Given the description of an element on the screen output the (x, y) to click on. 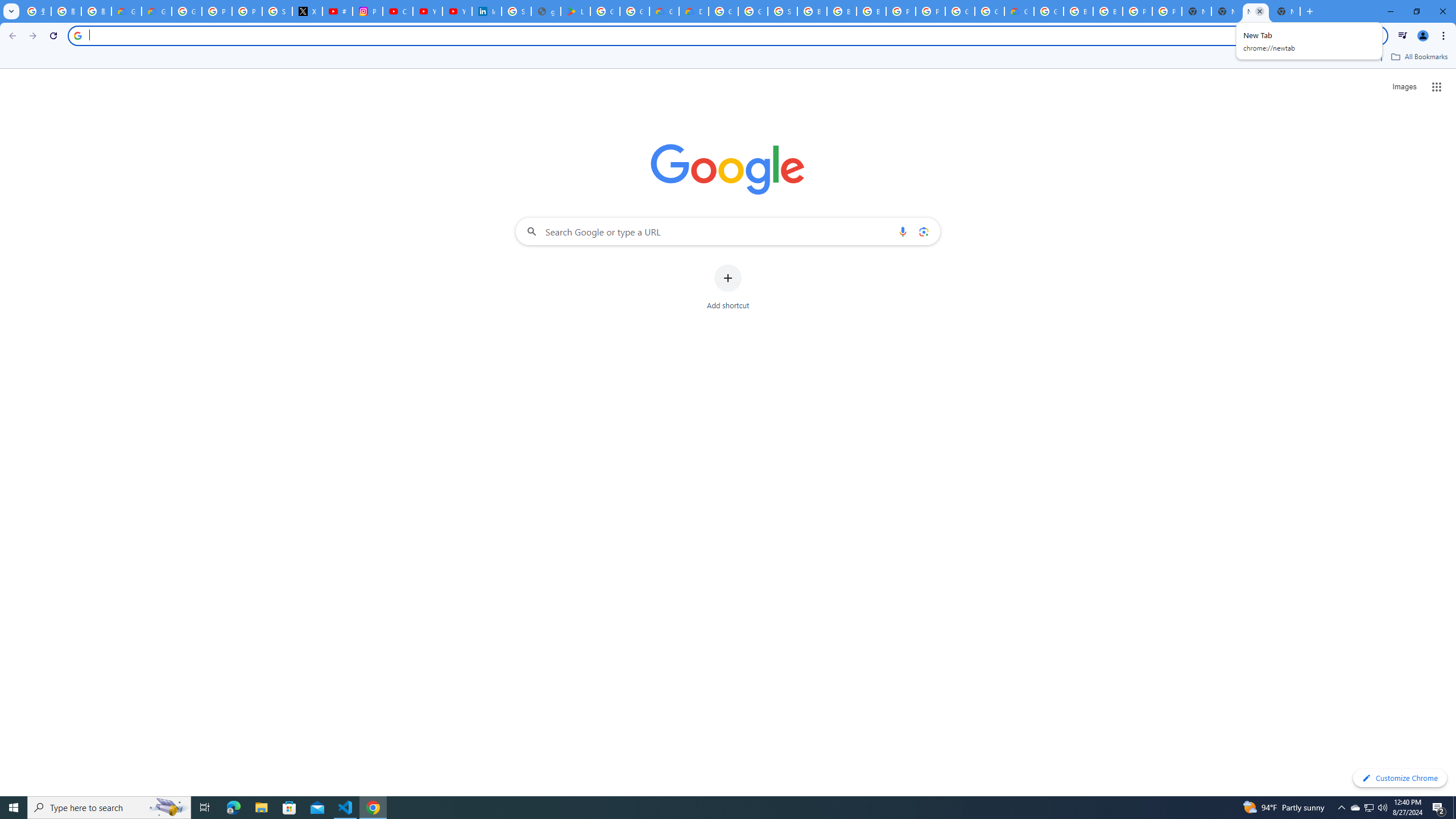
Sign in - Google Accounts (782, 11)
